Given the description of an element on the screen output the (x, y) to click on. 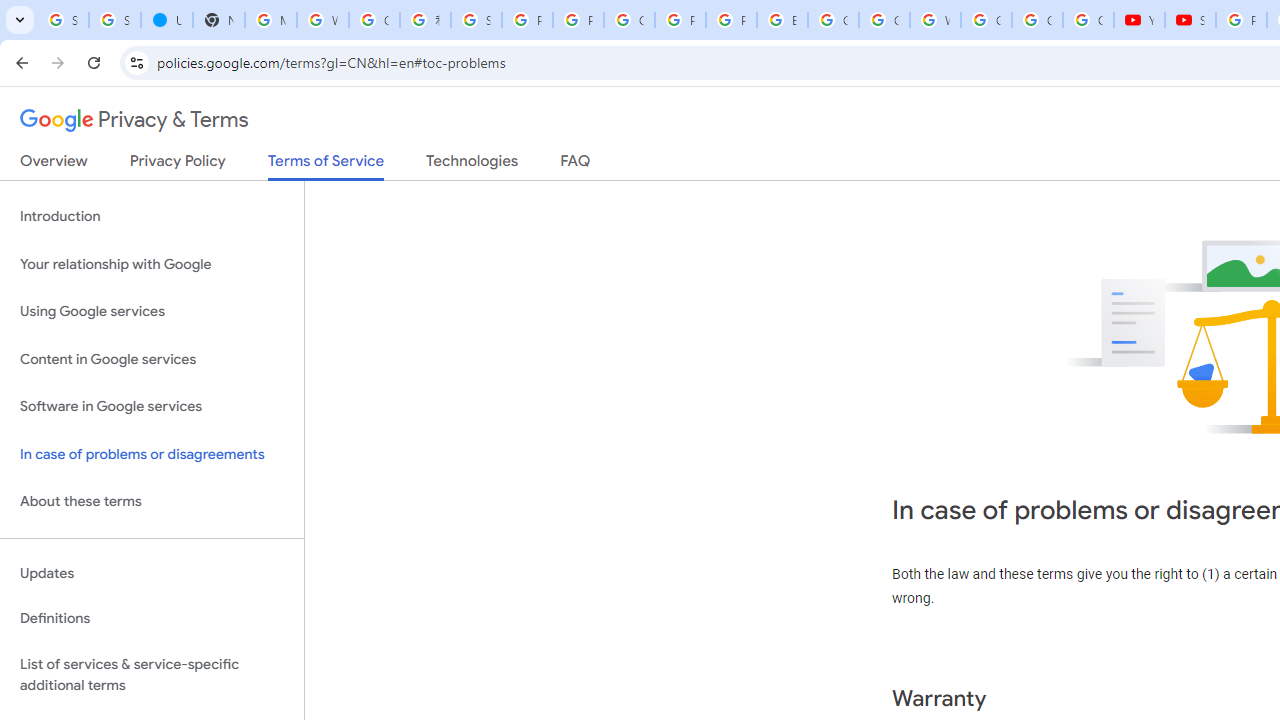
Using Google services (152, 312)
FAQ (575, 165)
Google Account (1037, 20)
Sign in - Google Accounts (63, 20)
USA TODAY (166, 20)
Introduction (152, 216)
Technologies (472, 165)
YouTube (1138, 20)
Google Slides: Sign-in (832, 20)
Privacy & Terms (134, 120)
Create your Google Account (629, 20)
